Given the description of an element on the screen output the (x, y) to click on. 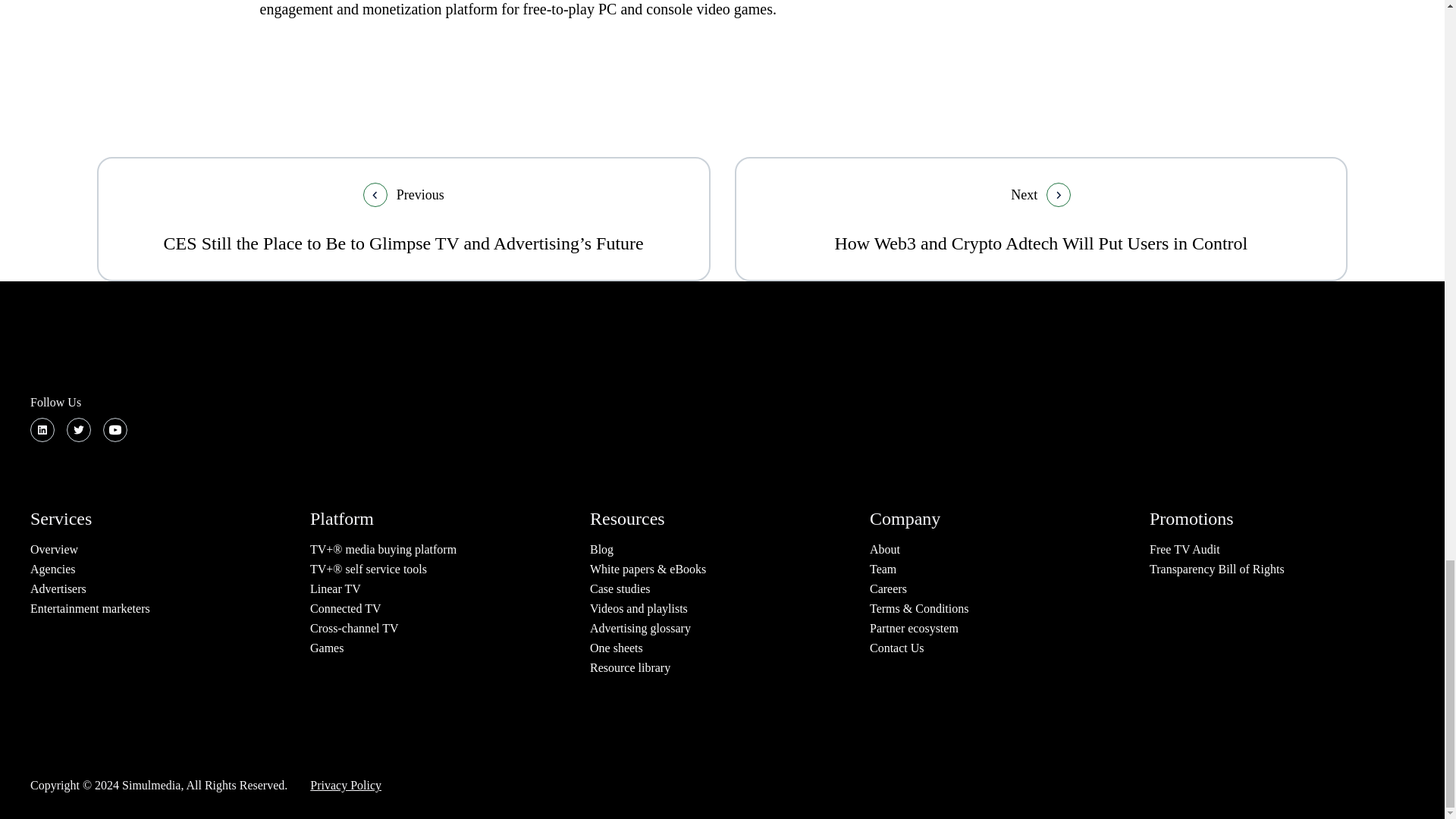
Agencies (52, 568)
Advertisers (57, 588)
Cross-channel TV (354, 627)
Find Simulmedia on LinkedIn (42, 429)
Team (882, 568)
Advertising glossary (639, 627)
Careers (888, 588)
Find Simulmedia on Twitter (78, 429)
Contact Us (896, 647)
Partner ecosystem (913, 627)
